Given the description of an element on the screen output the (x, y) to click on. 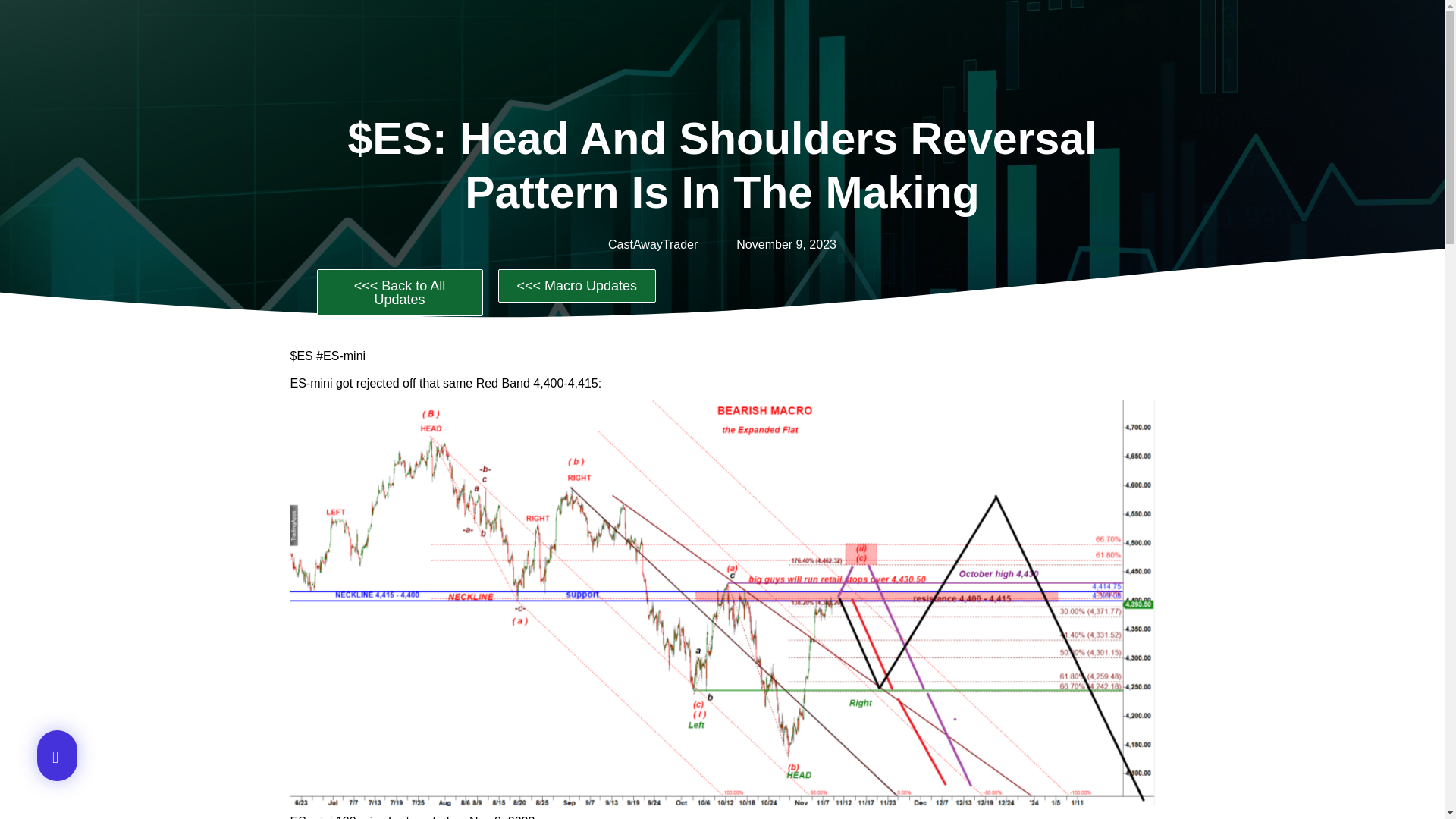
CastAwayTrader (652, 244)
November 9, 2023 (785, 244)
